Given the description of an element on the screen output the (x, y) to click on. 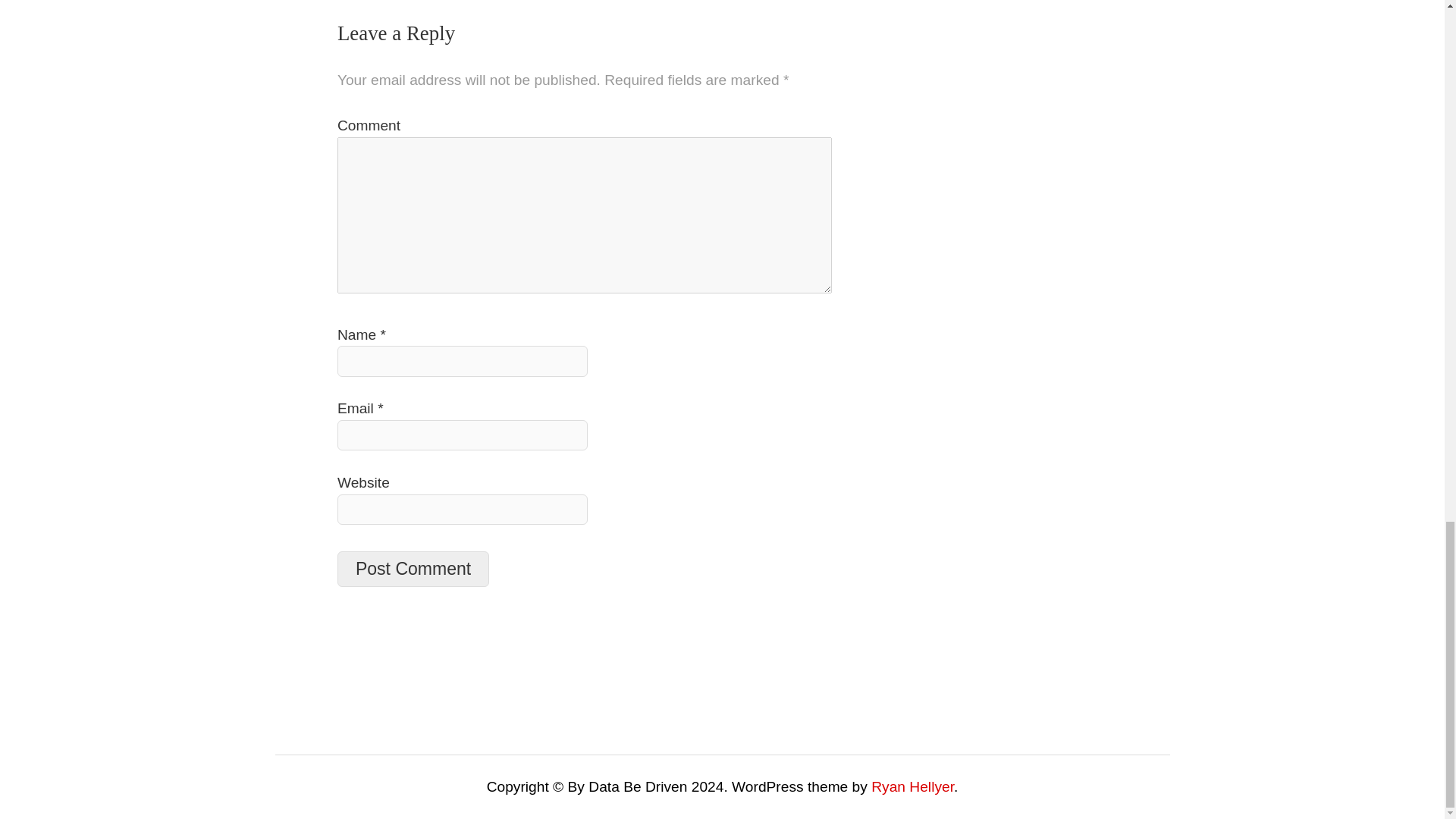
Post Comment (413, 569)
Ryan Hellyer (911, 786)
Post Comment (413, 569)
Ryan Hellyer (911, 786)
